Given the description of an element on the screen output the (x, y) to click on. 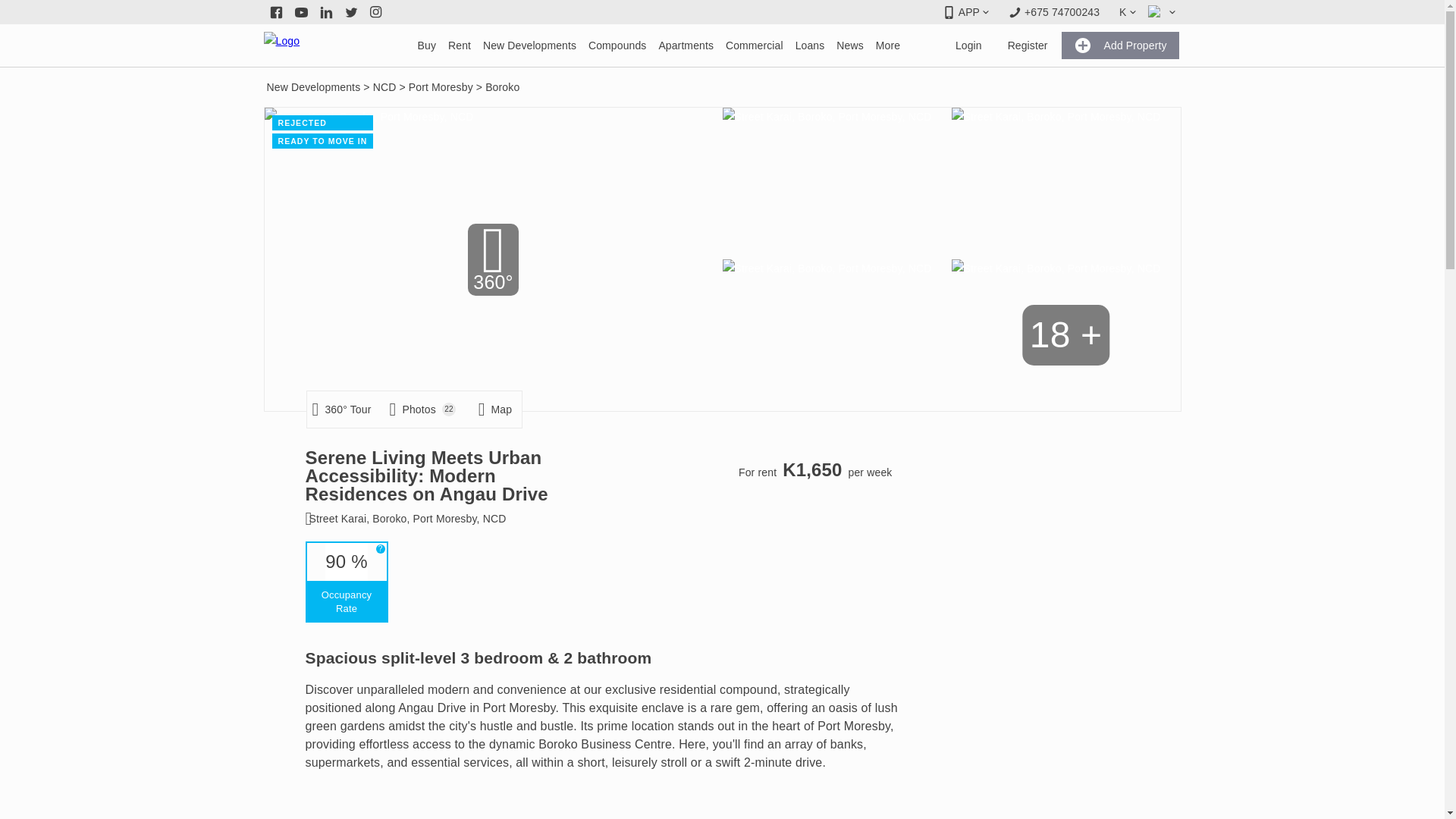
Loans (810, 45)
Register (1027, 44)
News (849, 45)
More (887, 45)
Compounds (617, 45)
New Developments (529, 45)
Login (968, 44)
Buy (427, 45)
Apartments (685, 45)
K (1127, 12)
Add Property (1120, 44)
Commercial (754, 45)
Rent (459, 45)
 APP (965, 12)
